Given the description of an element on the screen output the (x, y) to click on. 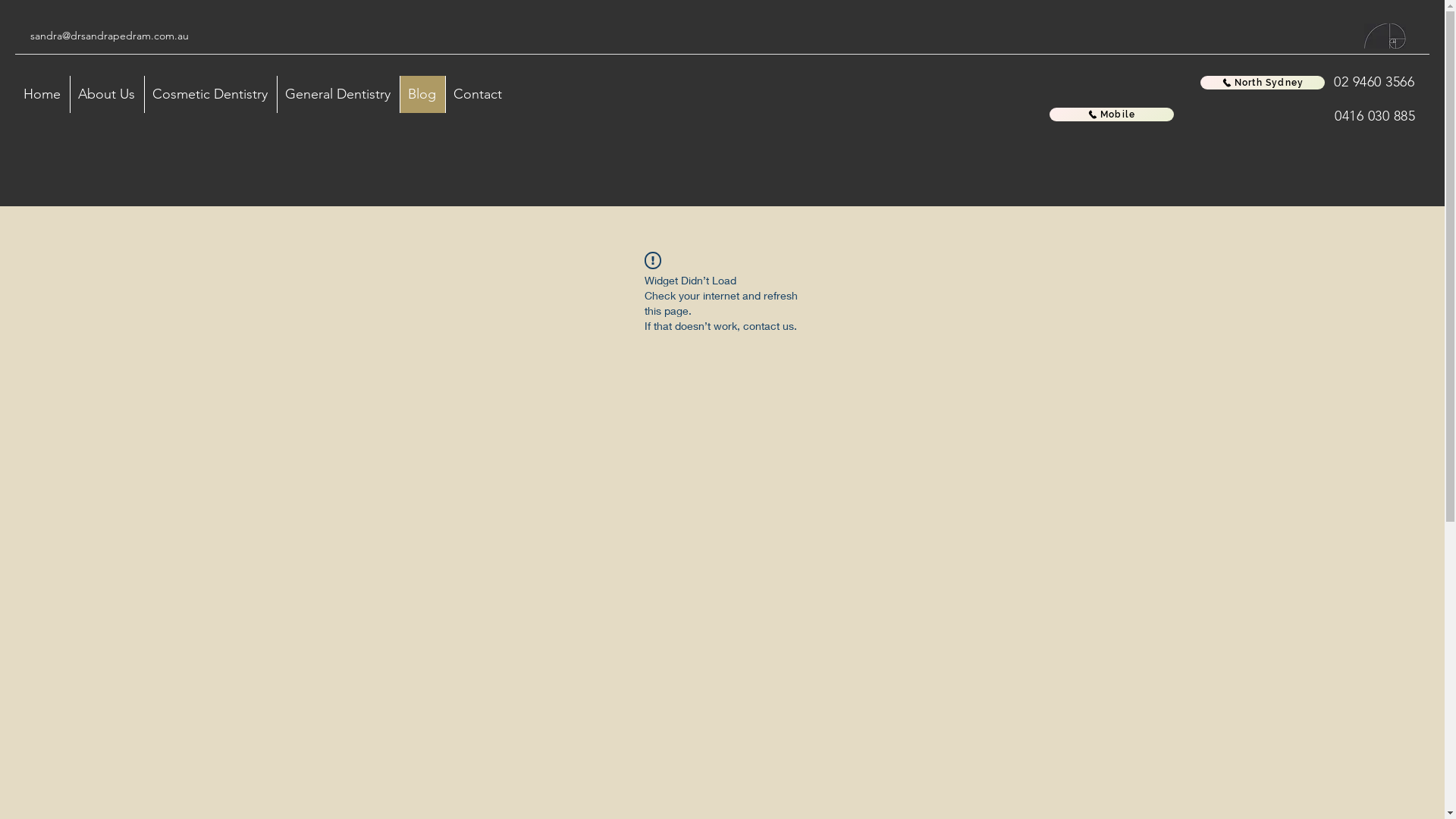
Mobile Element type: text (1111, 114)
General Dentistry Element type: text (337, 93)
North Sydney Element type: text (1262, 82)
Blog Element type: text (422, 93)
Contact Element type: text (478, 93)
Home Element type: text (42, 93)
Cosmetic Dentistry Element type: text (210, 93)
About Us Element type: text (106, 93)
sandra@drsandrapedram.com.au Element type: text (109, 35)
